Given the description of an element on the screen output the (x, y) to click on. 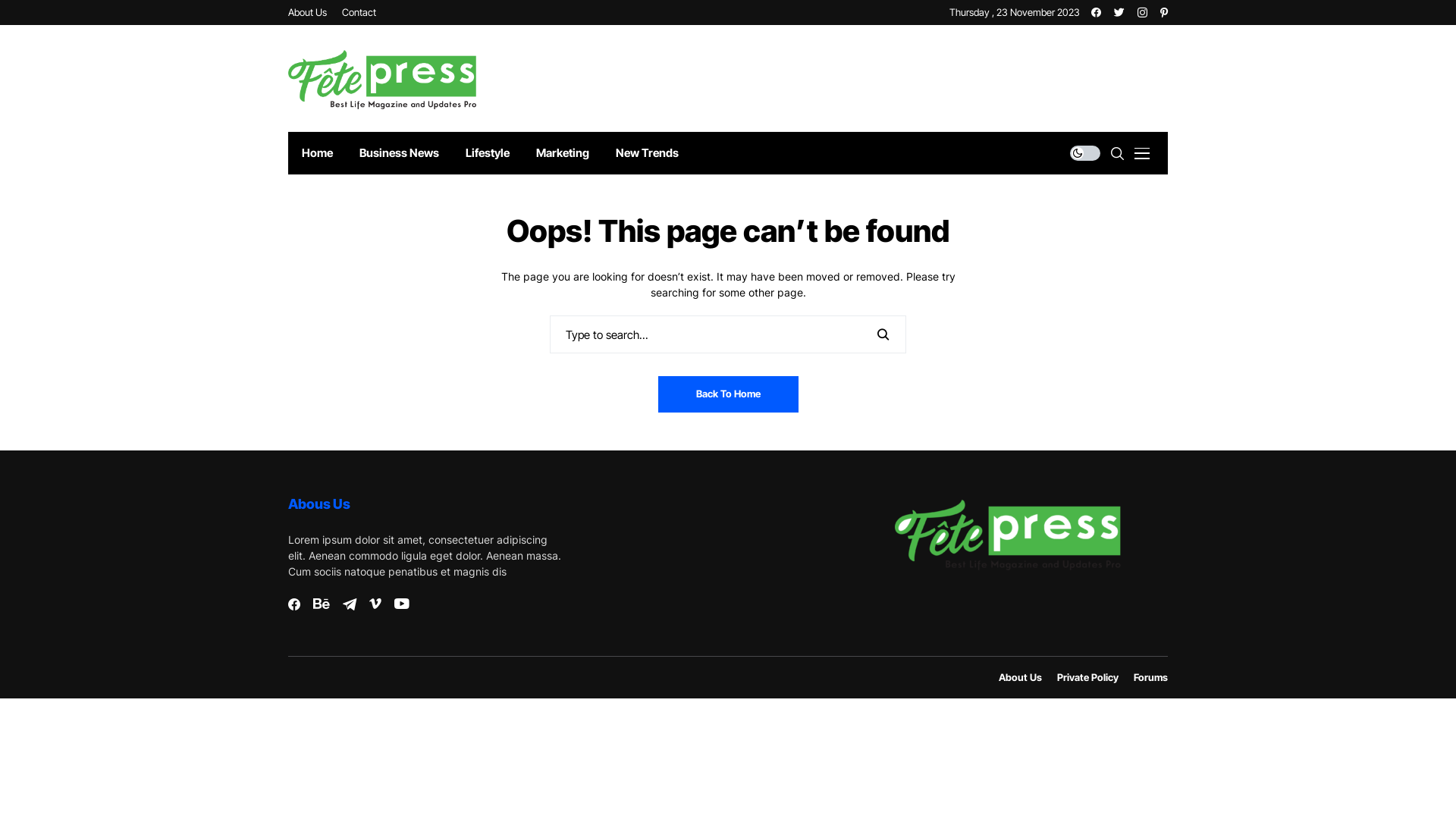
Forums Element type: text (1150, 677)
About Us Element type: text (1019, 677)
About Us Element type: text (307, 12)
Home Element type: text (316, 152)
Marketing Element type: text (562, 152)
Lifestyle Element type: text (486, 152)
Business News Element type: text (398, 152)
Private Policy Element type: text (1087, 677)
Contact Element type: text (359, 12)
New Trends Element type: text (646, 152)
Back To Home Element type: text (728, 394)
